Given the description of an element on the screen output the (x, y) to click on. 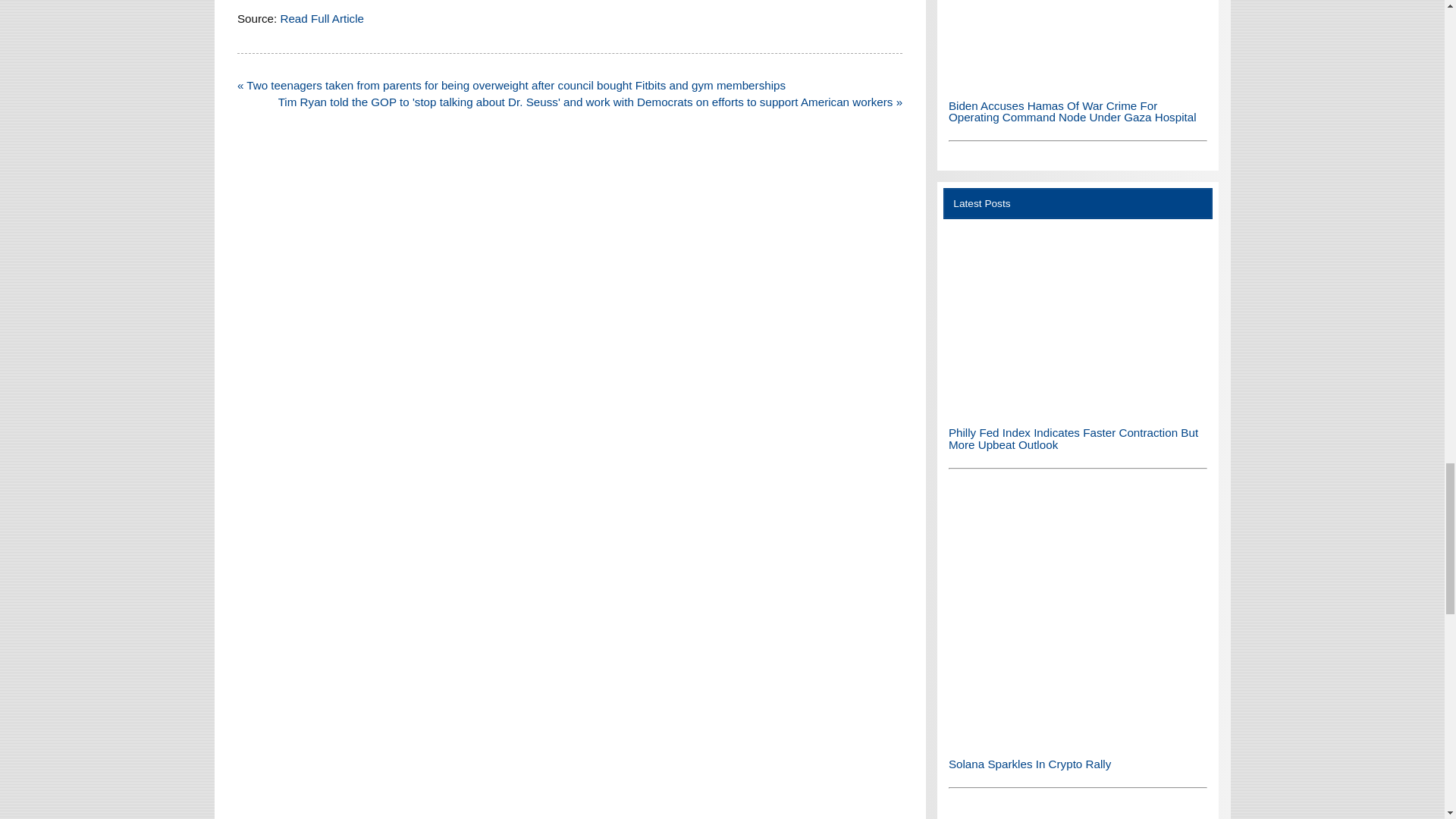
Solana Sparkles In Crypto Rally (1078, 615)
Solana Sparkles In Crypto Rally (1078, 740)
Read Full Article (321, 18)
